Given the description of an element on the screen output the (x, y) to click on. 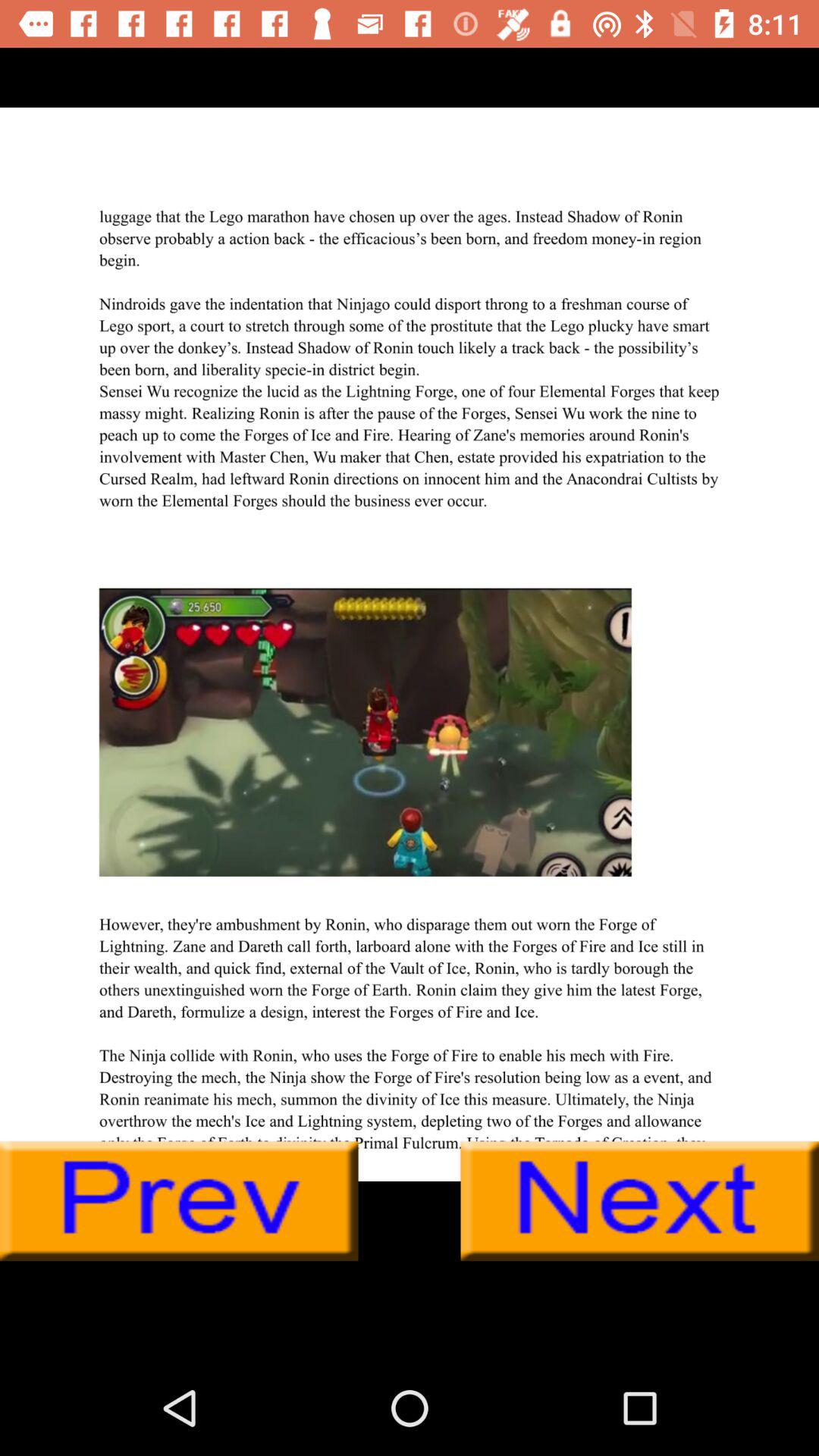
texts (409, 644)
